Given the description of an element on the screen output the (x, y) to click on. 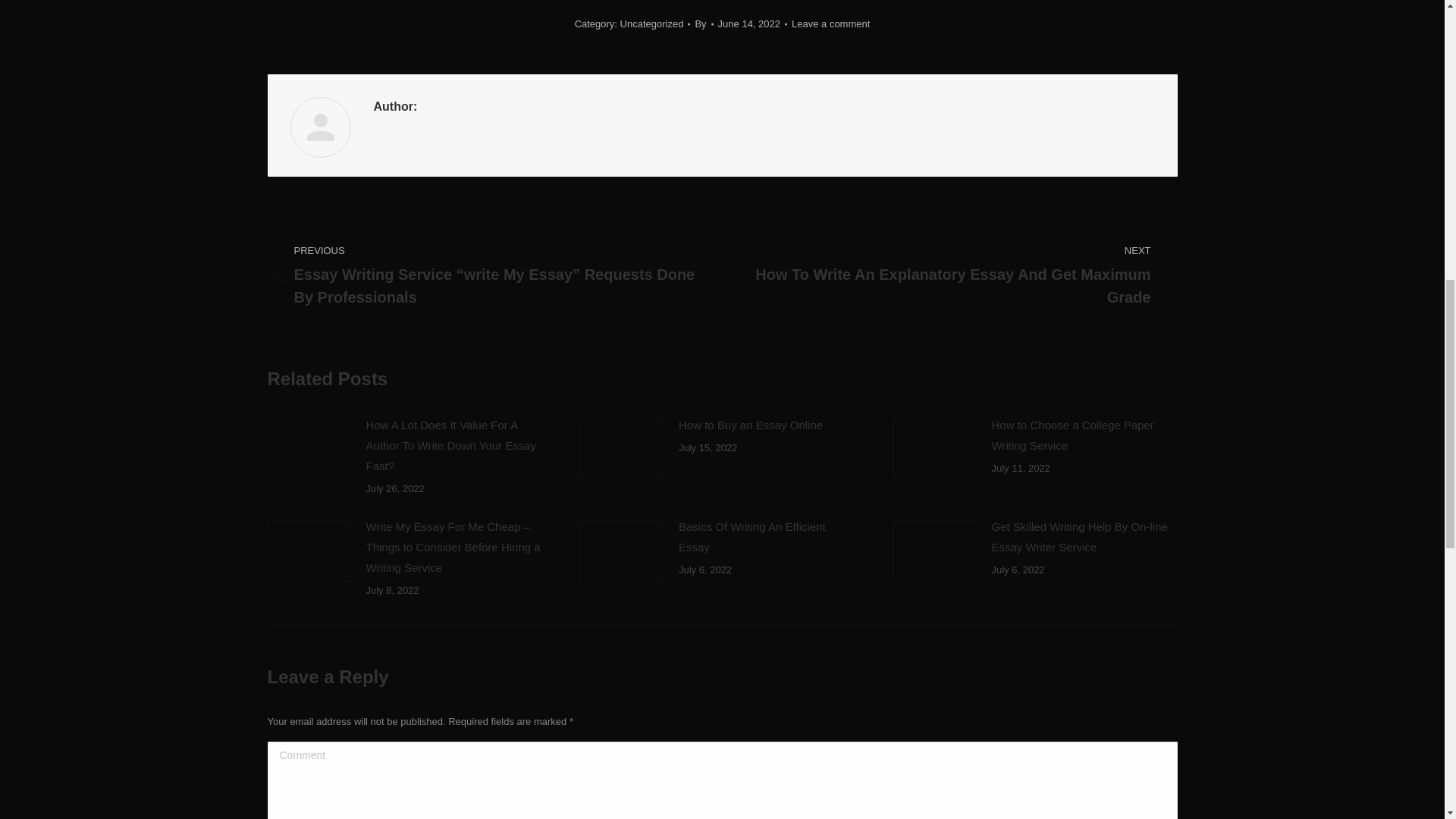
8:48 am (752, 23)
Uncategorized (652, 23)
June 14, 2022 (752, 23)
Leave a comment (830, 23)
View all posts by  (703, 23)
By (703, 23)
